Given the description of an element on the screen output the (x, y) to click on. 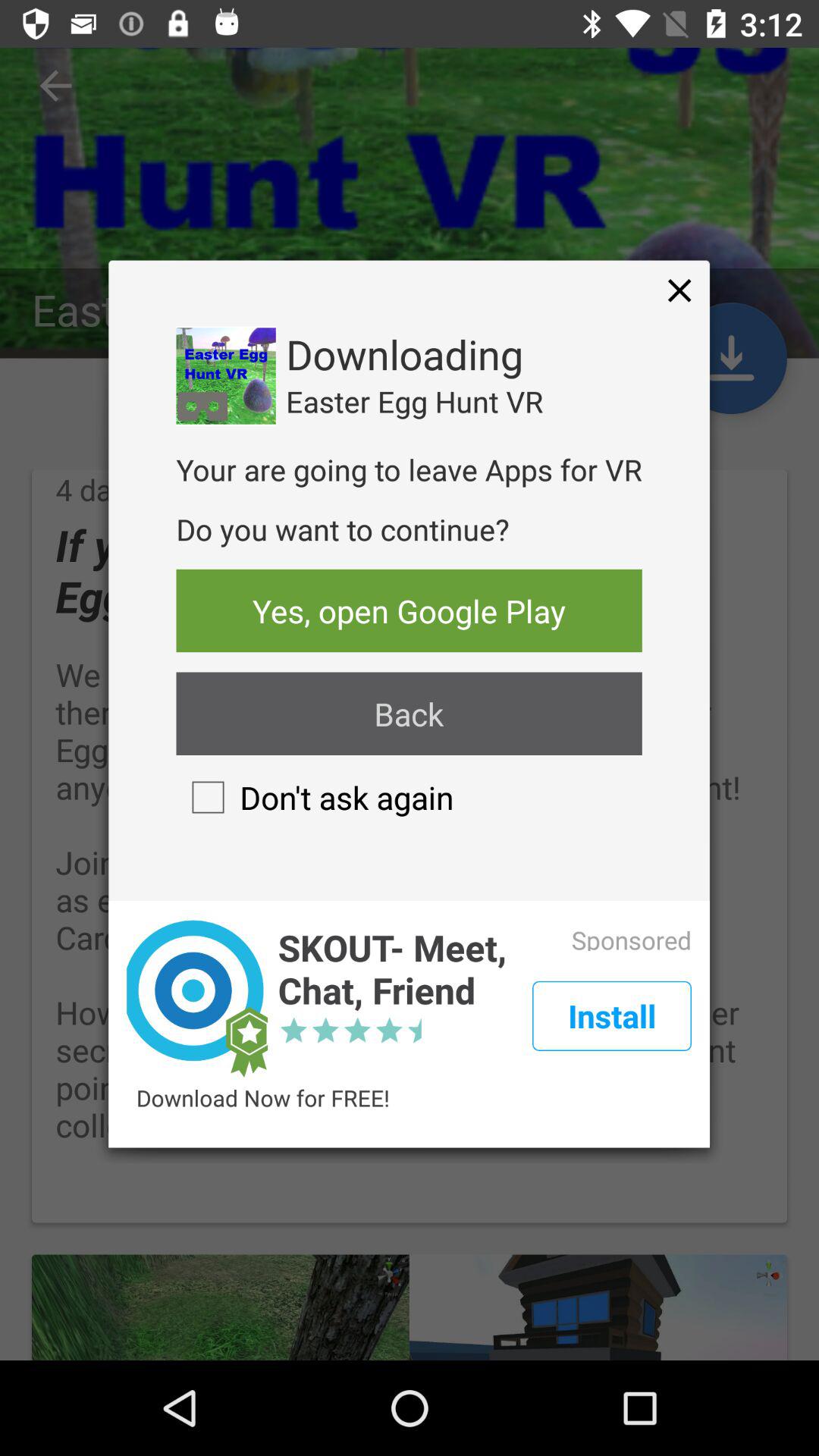
choose yes open google icon (409, 610)
